Given the description of an element on the screen output the (x, y) to click on. 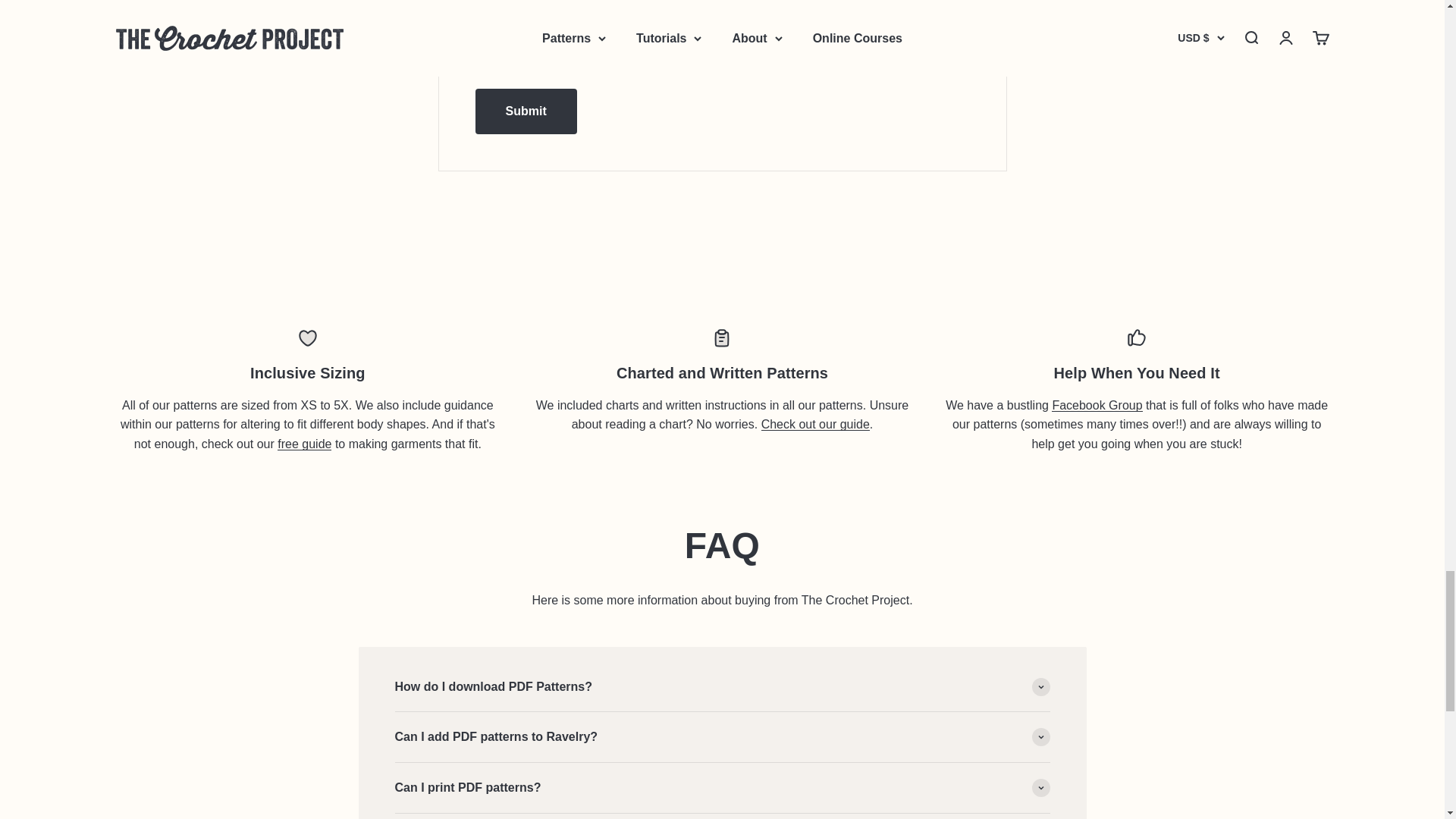
FREE GUIDE - How to Make a Garment That Fits (304, 443)
Facebook Group (1096, 404)
FREE Pattern reading guide (815, 423)
